Given the description of an element on the screen output the (x, y) to click on. 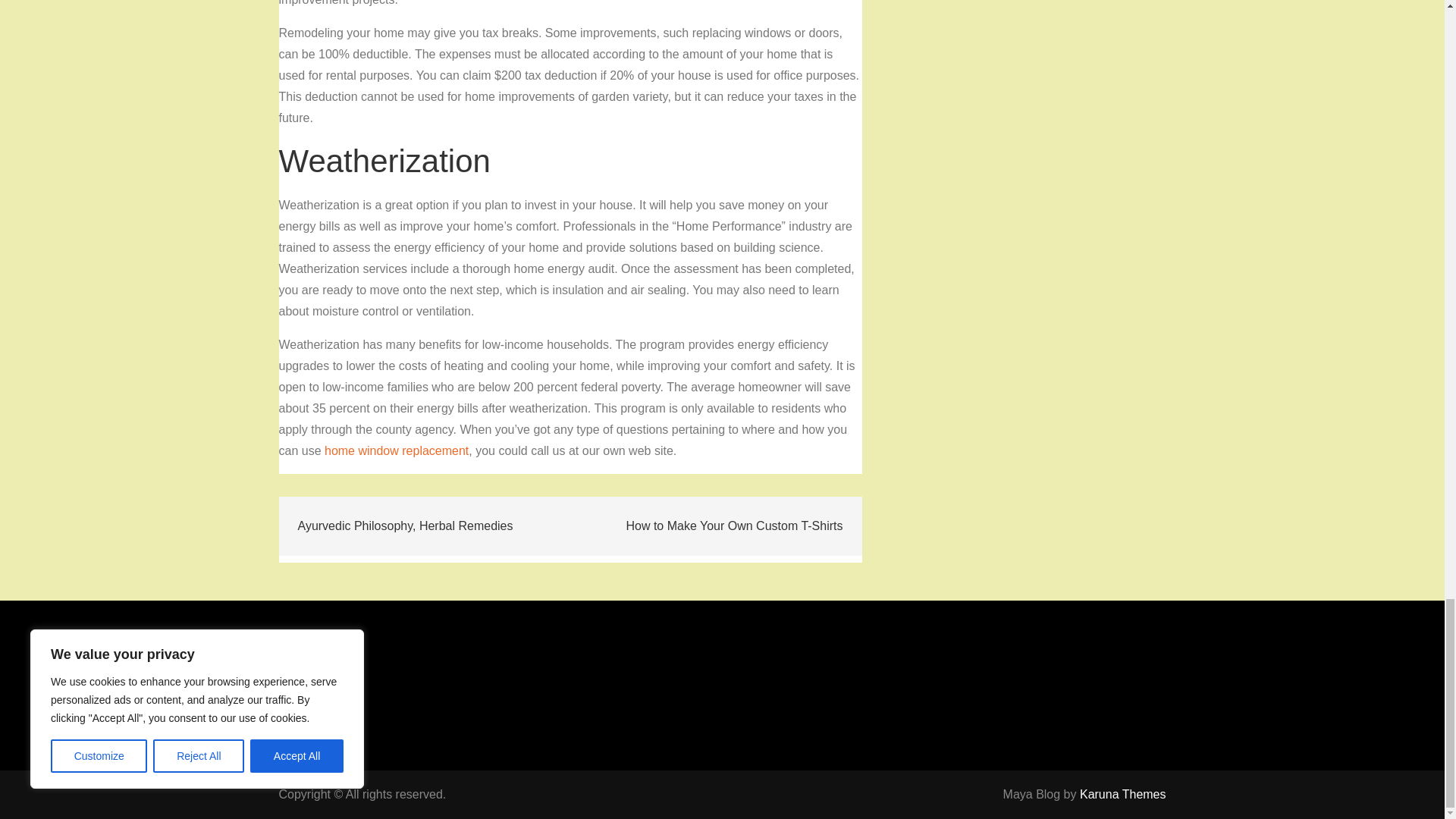
How to Make Your Own Custom T-Shirts (734, 526)
Ayurvedic Philosophy, Herbal Remedies (405, 526)
home window replacement (396, 450)
